Given the description of an element on the screen output the (x, y) to click on. 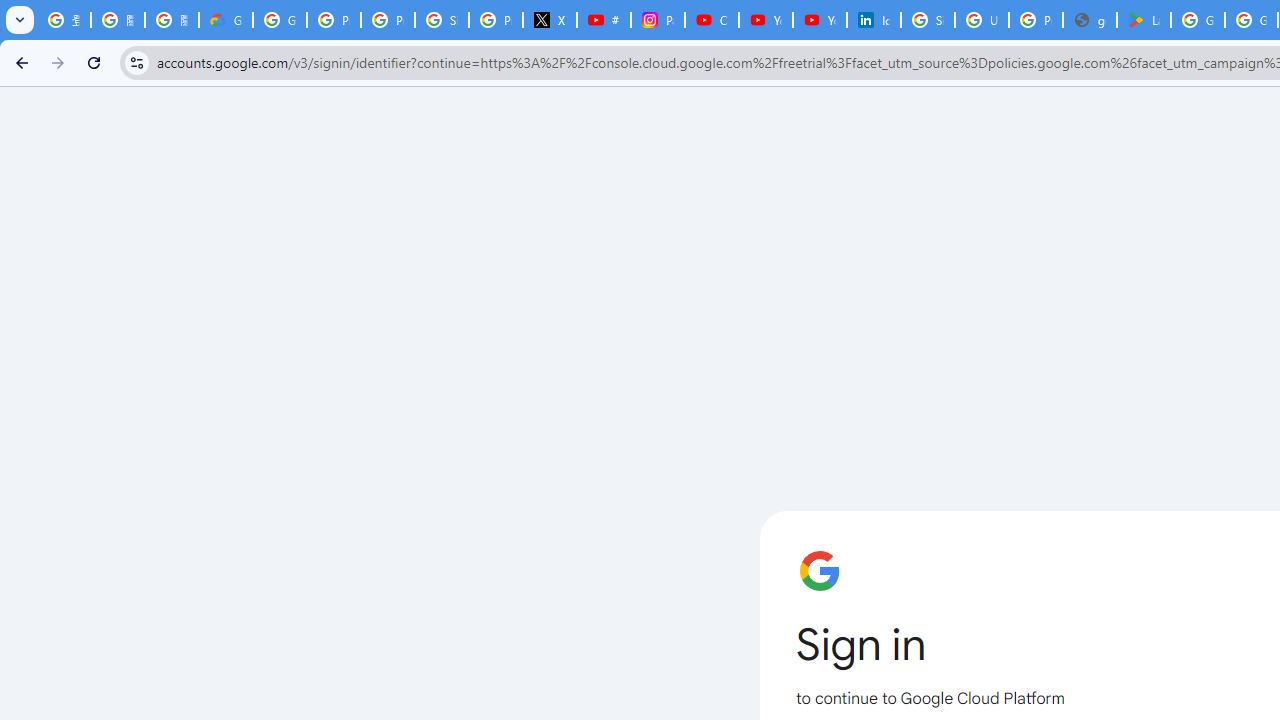
Last Shelter: Survival - Apps on Google Play (1144, 20)
Google Cloud Privacy Notice (225, 20)
X (550, 20)
